Given the description of an element on the screen output the (x, y) to click on. 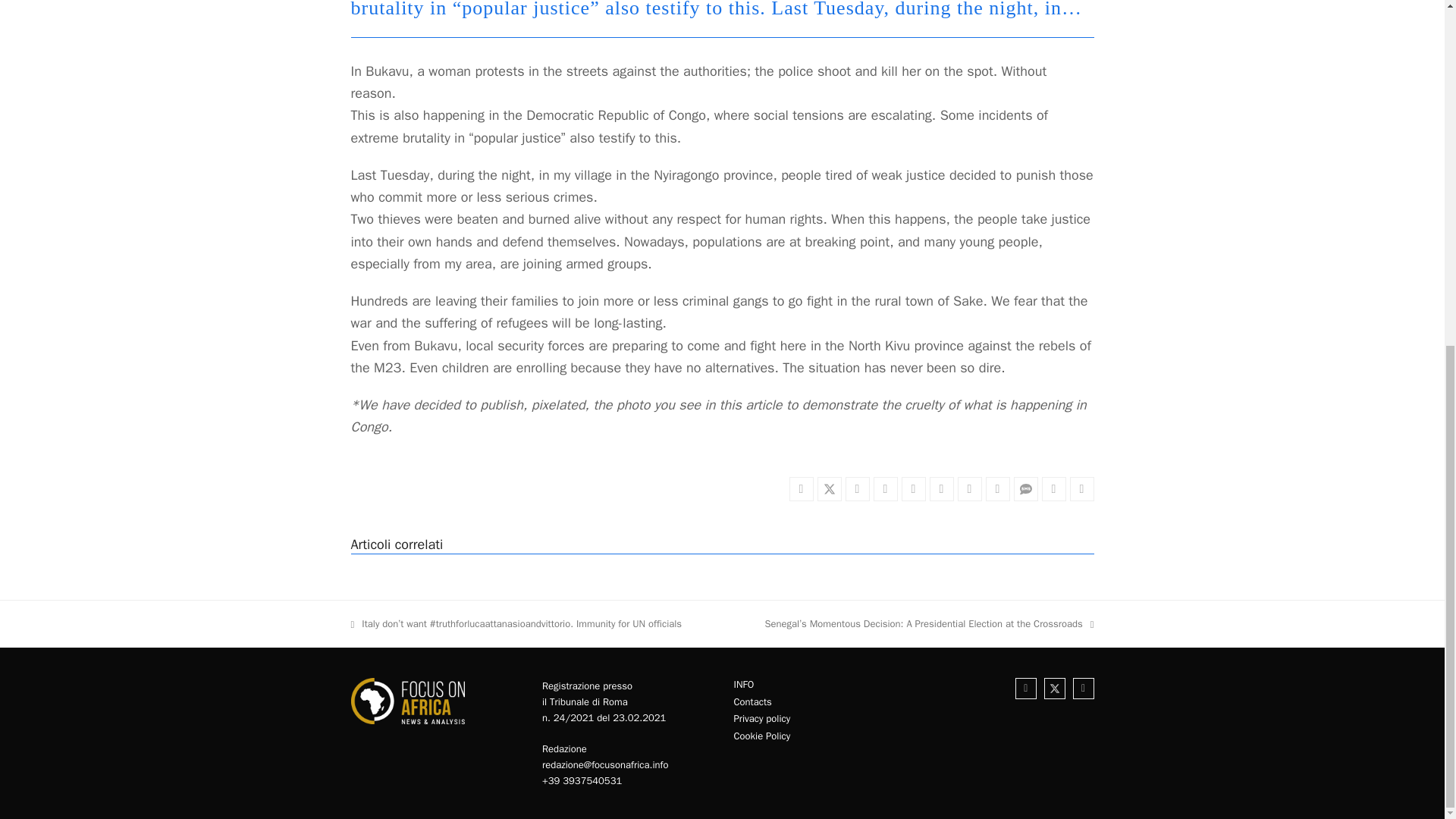
Share on LinkedIn (912, 488)
Share on Twitter (800, 488)
Share on Pinterest (885, 488)
Share on Facebook (856, 488)
YouTube (1083, 688)
Post on X (828, 488)
Facebook (1025, 688)
Twitter (1054, 688)
